Given the description of an element on the screen output the (x, y) to click on. 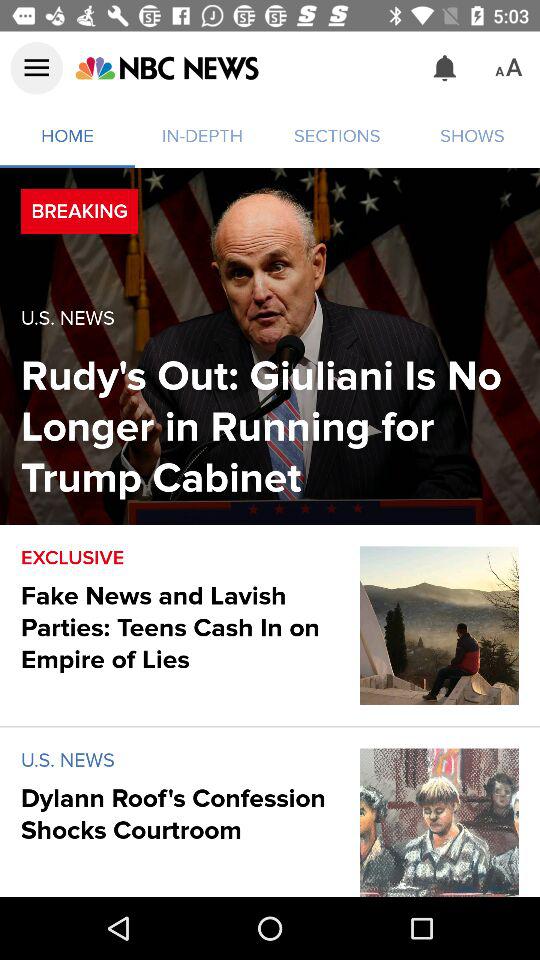
open item to the left of the sections item (166, 68)
